Given the description of an element on the screen output the (x, y) to click on. 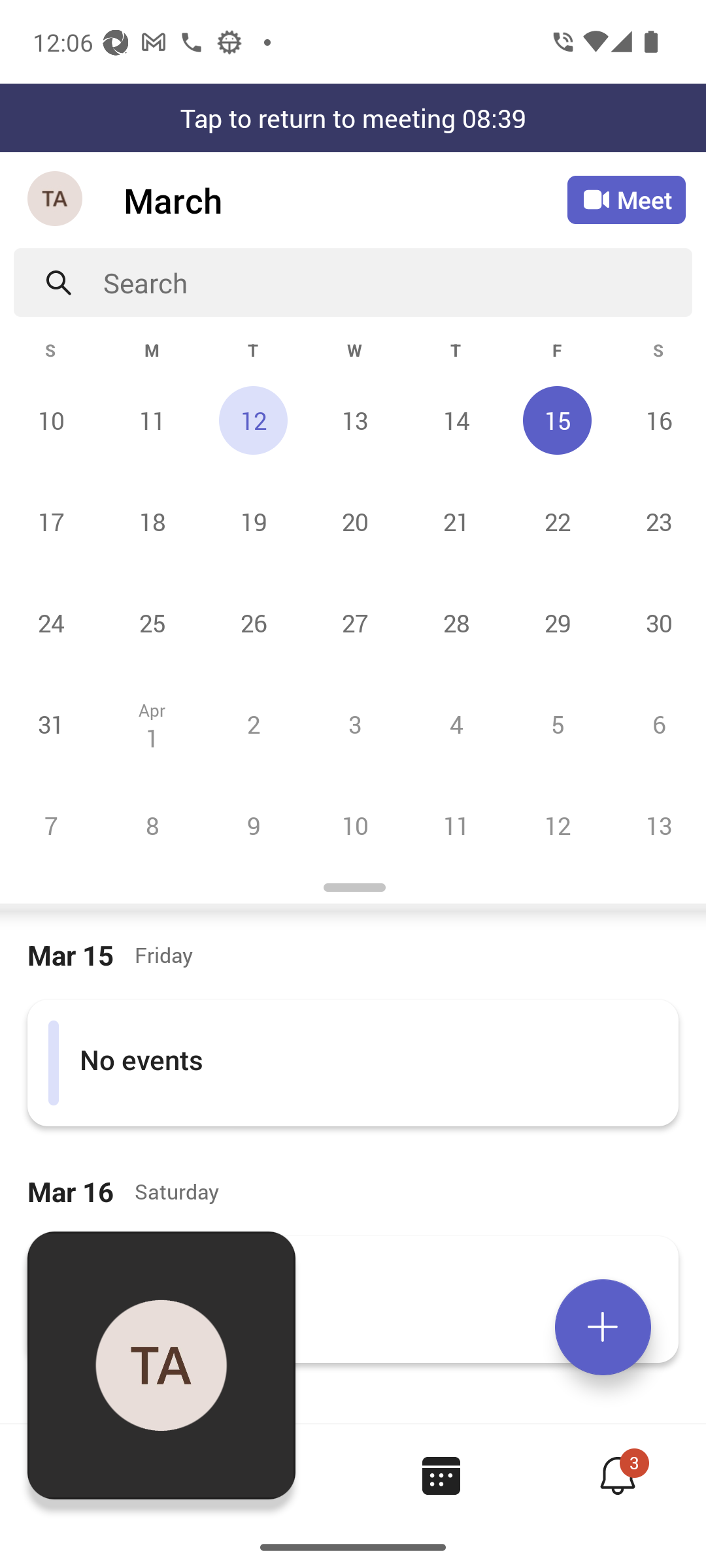
Tap to return to meeting 08:39 (353, 117)
Navigation (56, 199)
Meet Meet now or join with an ID (626, 199)
Search (397, 281)
Sunday, March 10 10 (50, 420)
Monday, March 11 11 (151, 420)
Tuesday, March 12, Today 12 (253, 420)
Wednesday, March 13 13 (354, 420)
Thursday, March 14 14 (455, 420)
Friday, March 15, Selected 15 (556, 420)
Saturday, March 16 16 (656, 420)
Sunday, March 17 17 (50, 521)
Monday, March 18 18 (151, 521)
Tuesday, March 19 19 (253, 521)
Wednesday, March 20 20 (354, 521)
Thursday, March 21 21 (455, 521)
Friday, March 22 22 (556, 521)
Saturday, March 23 23 (656, 521)
Sunday, March 24 24 (50, 623)
Monday, March 25 25 (151, 623)
Tuesday, March 26 26 (253, 623)
Wednesday, March 27 27 (354, 623)
Thursday, March 28 28 (455, 623)
Friday, March 29 29 (556, 623)
Saturday, March 30 30 (656, 623)
Sunday, March 31 31 (50, 724)
Monday, April 1 Apr 1 (151, 724)
Tuesday, April 2 2 (253, 724)
Wednesday, April 3 3 (354, 724)
Thursday, April 4 4 (455, 724)
Friday, April 5 5 (556, 724)
Saturday, April 6 6 (656, 724)
Sunday, April 7 7 (50, 825)
Monday, April 8 8 (151, 825)
Tuesday, April 9 9 (253, 825)
Wednesday, April 10 10 (354, 825)
Thursday, April 11 11 (455, 825)
Friday, April 12 12 (556, 825)
Saturday, April 13 13 (656, 825)
Expand meetings menu (602, 1327)
Calendar tab, 3 of 4 (441, 1475)
Activity tab,4 of 4, not selected, 3 new 3 (617, 1475)
